Given the description of an element on the screen output the (x, y) to click on. 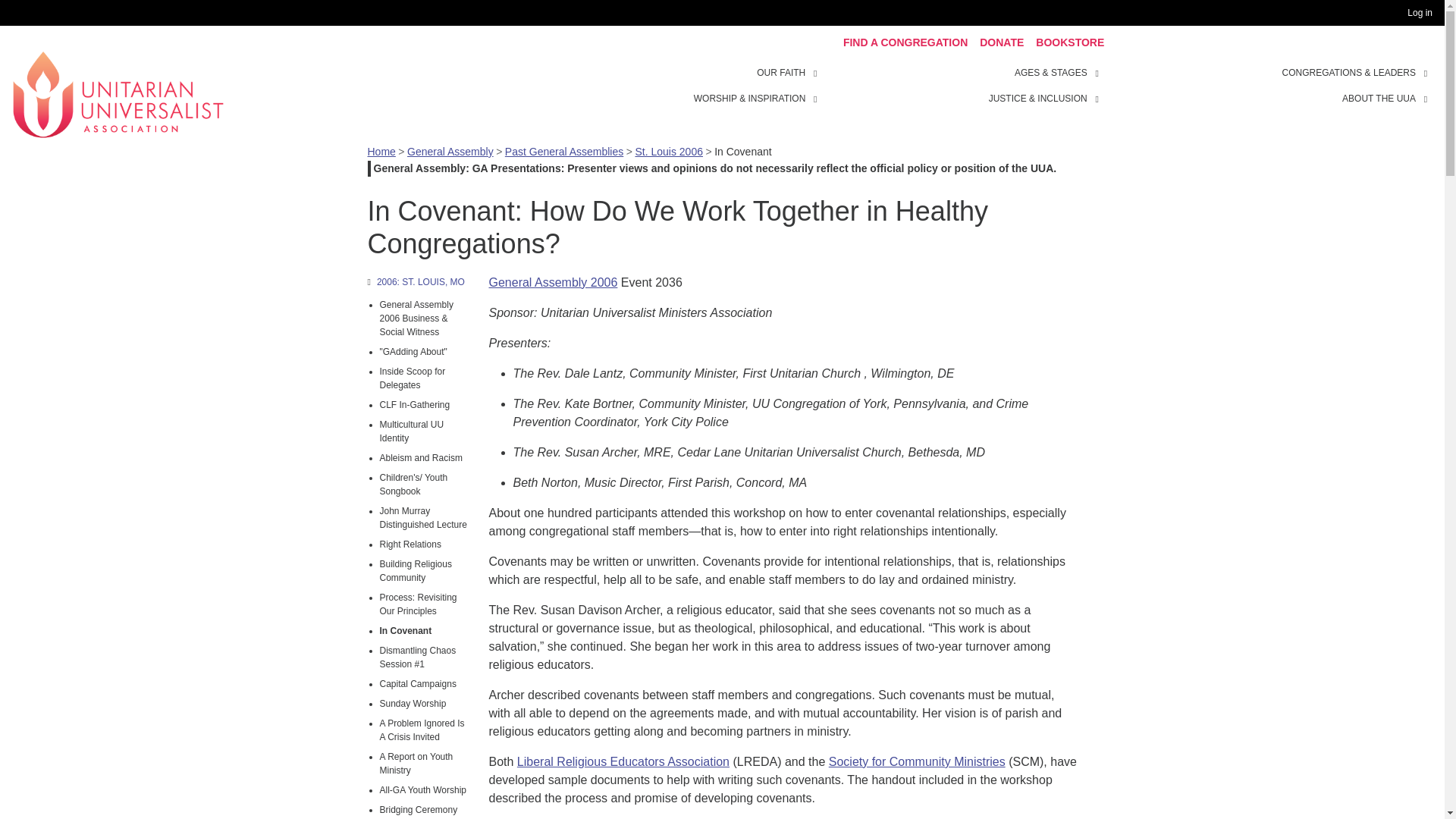
BOOKSTORE (1069, 42)
Log in (1423, 12)
OUR FAITH (817, 71)
DONATE (1001, 42)
FIND A CONGREGATION (905, 42)
Go up this menu (418, 281)
Home (117, 92)
OUR FAITH (781, 72)
Site Menu (962, 85)
